Given the description of an element on the screen output the (x, y) to click on. 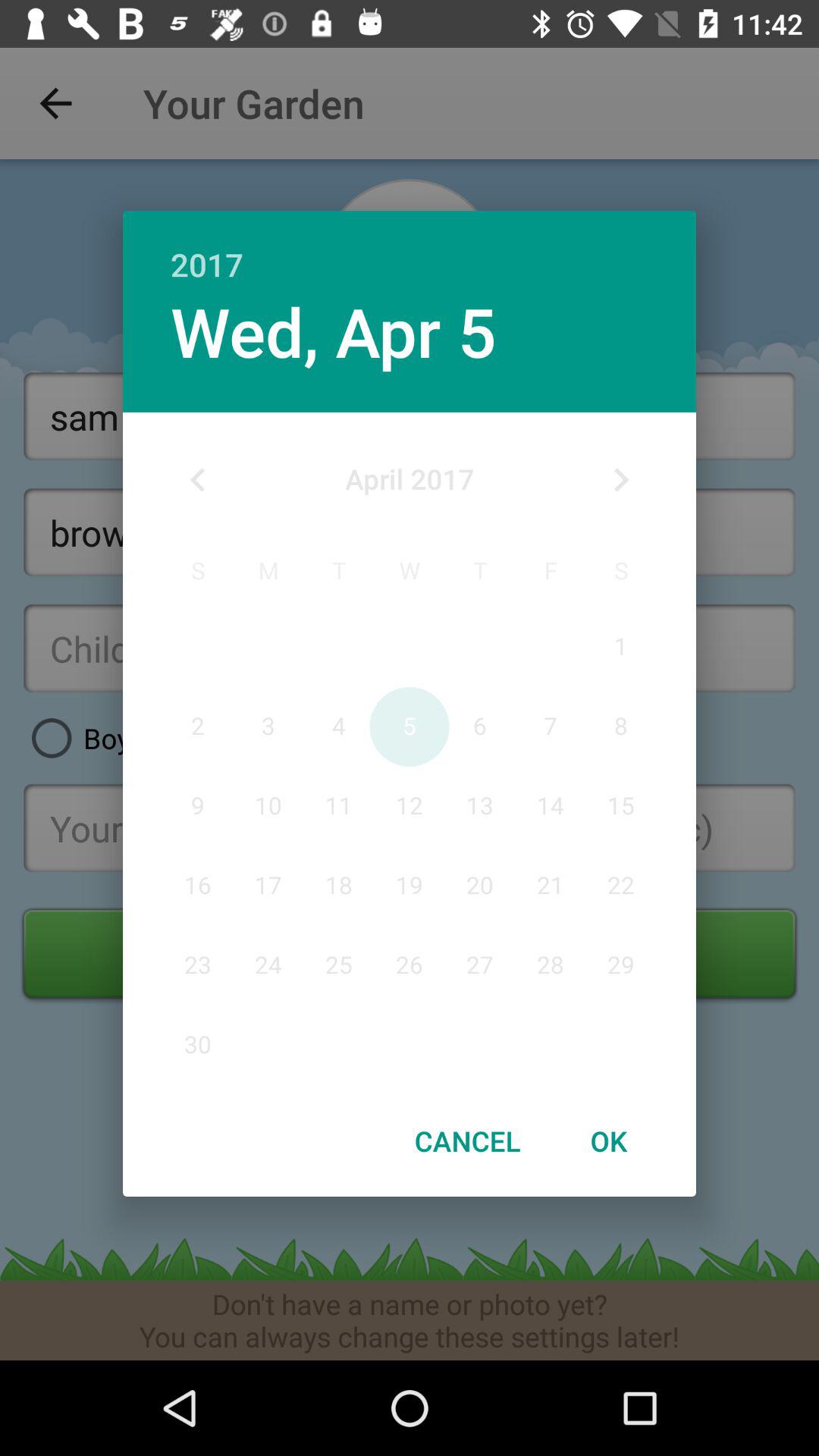
click wed, apr 5 item (333, 331)
